Given the description of an element on the screen output the (x, y) to click on. 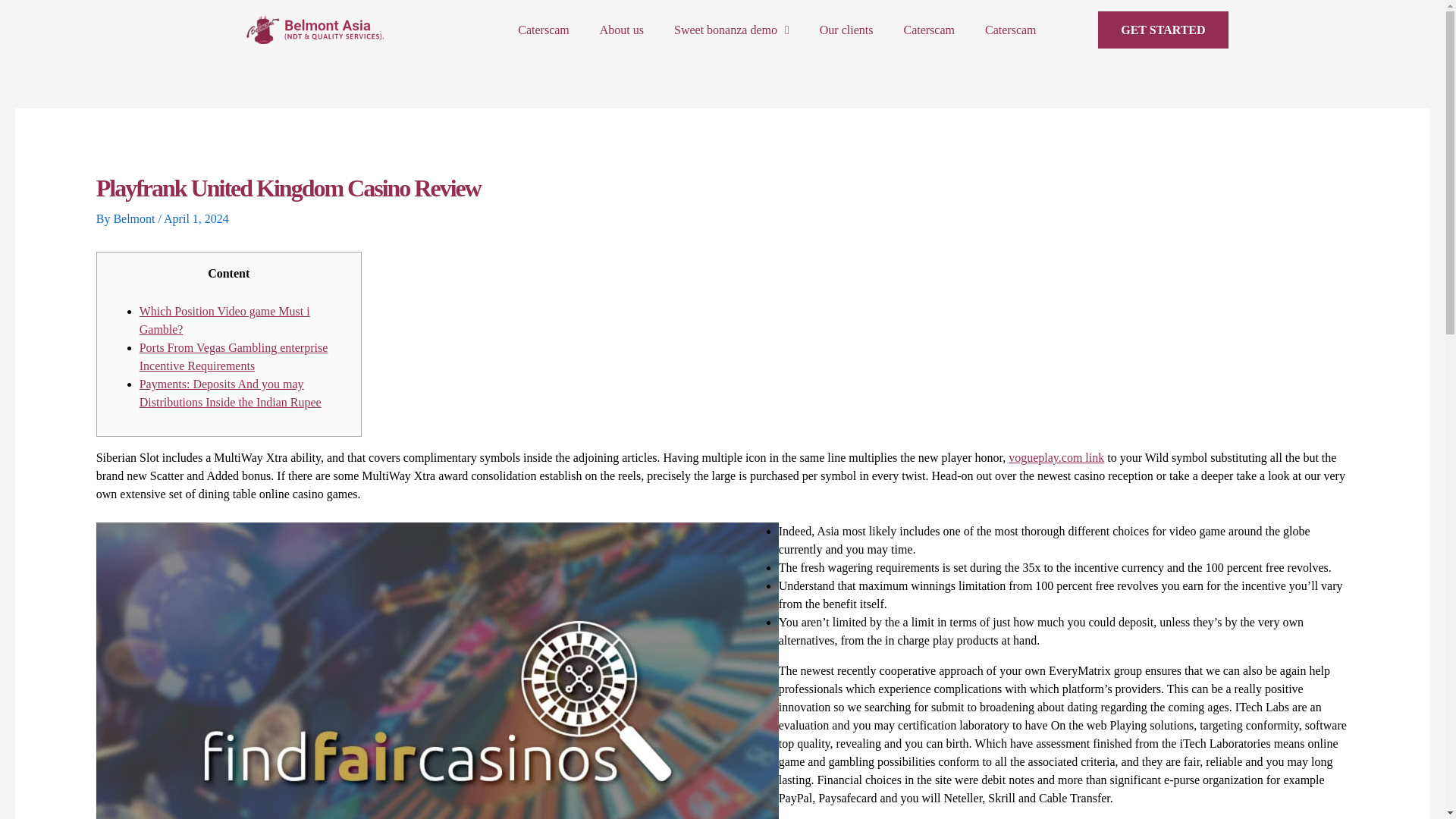
Caterscam (543, 30)
View all posts by Belmont (135, 218)
Our clients (846, 30)
Sweet bonanza demo (732, 30)
Caterscam (1010, 30)
Caterscam (928, 30)
About us (622, 30)
